Given the description of an element on the screen output the (x, y) to click on. 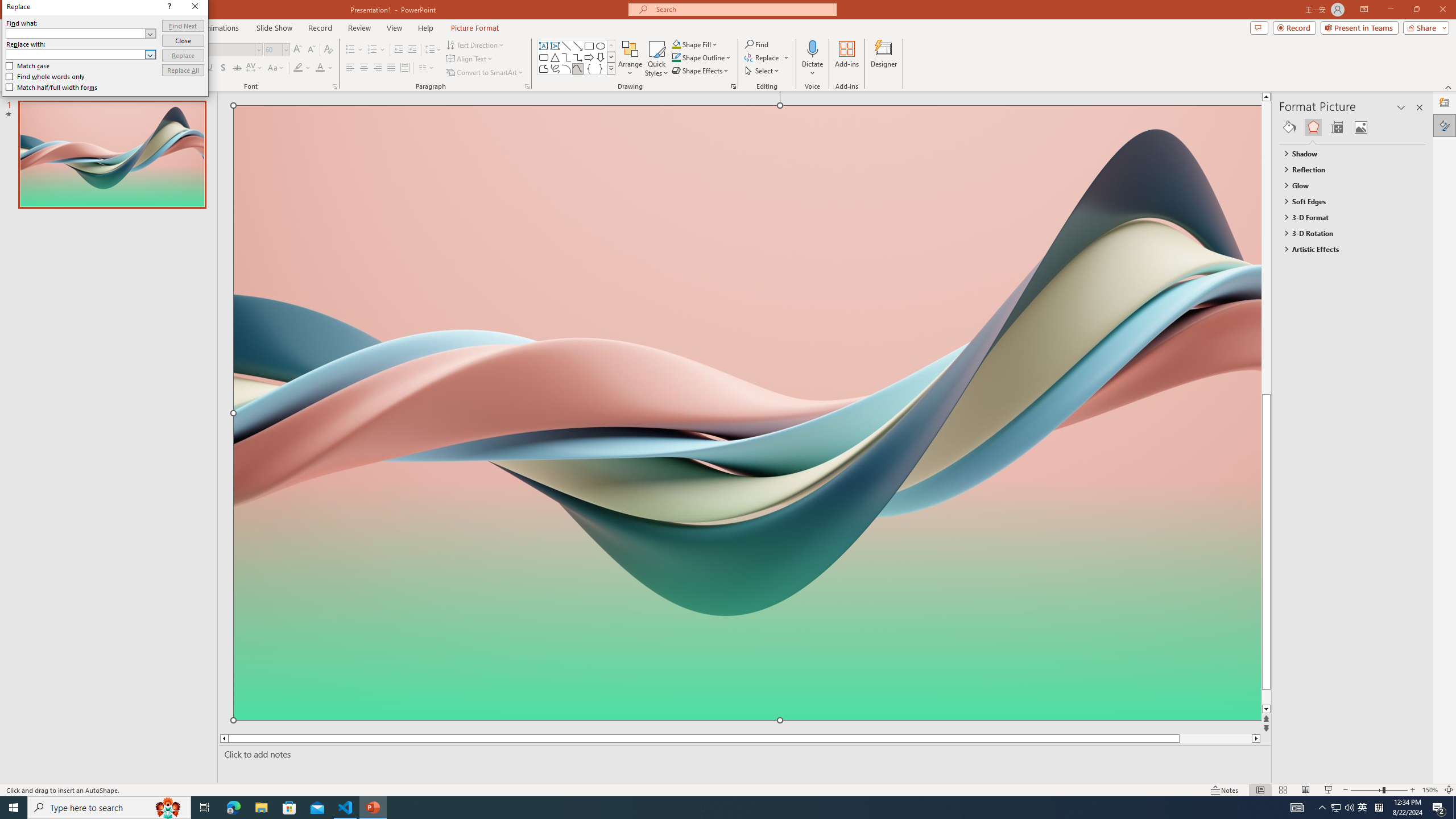
Find Next (183, 25)
Match half/full width forms (52, 86)
Slide Notes (742, 754)
Right Brace (600, 68)
Text Direction (476, 44)
Format Picture (1444, 125)
Visual Studio Code - 1 running window (345, 807)
